Given the description of an element on the screen output the (x, y) to click on. 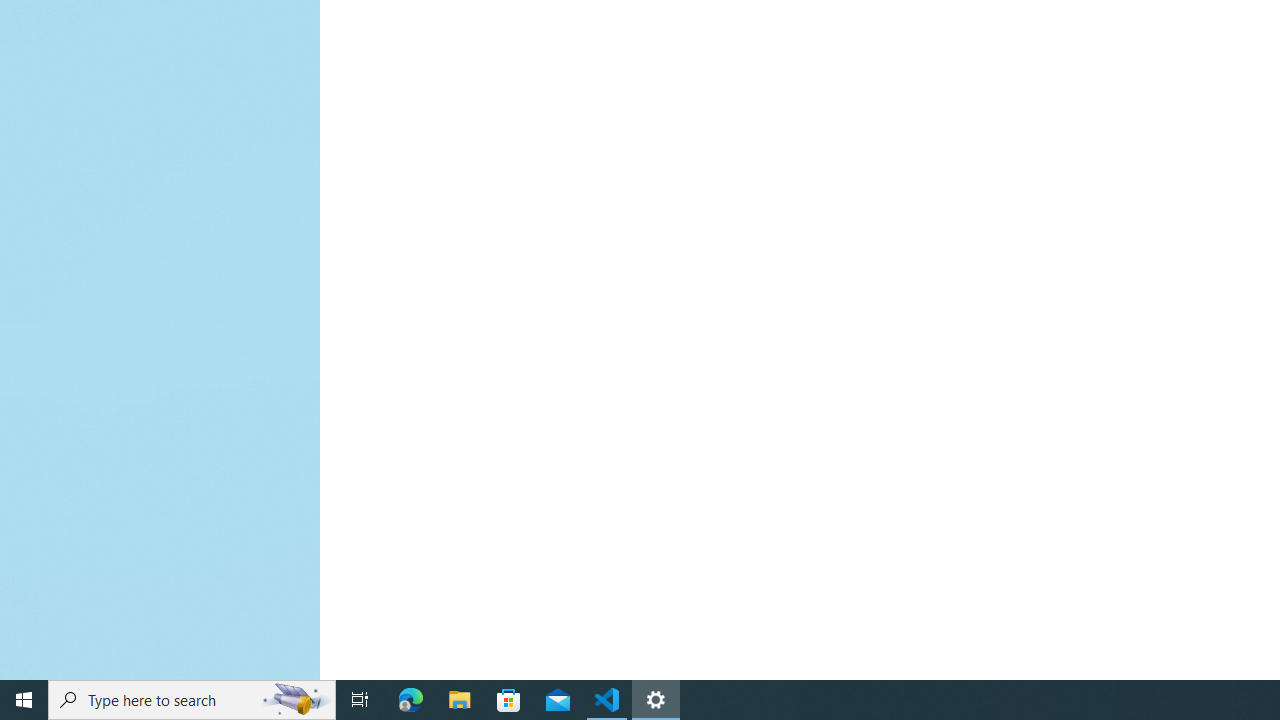
Settings - 1 running window (656, 699)
